Given the description of an element on the screen output the (x, y) to click on. 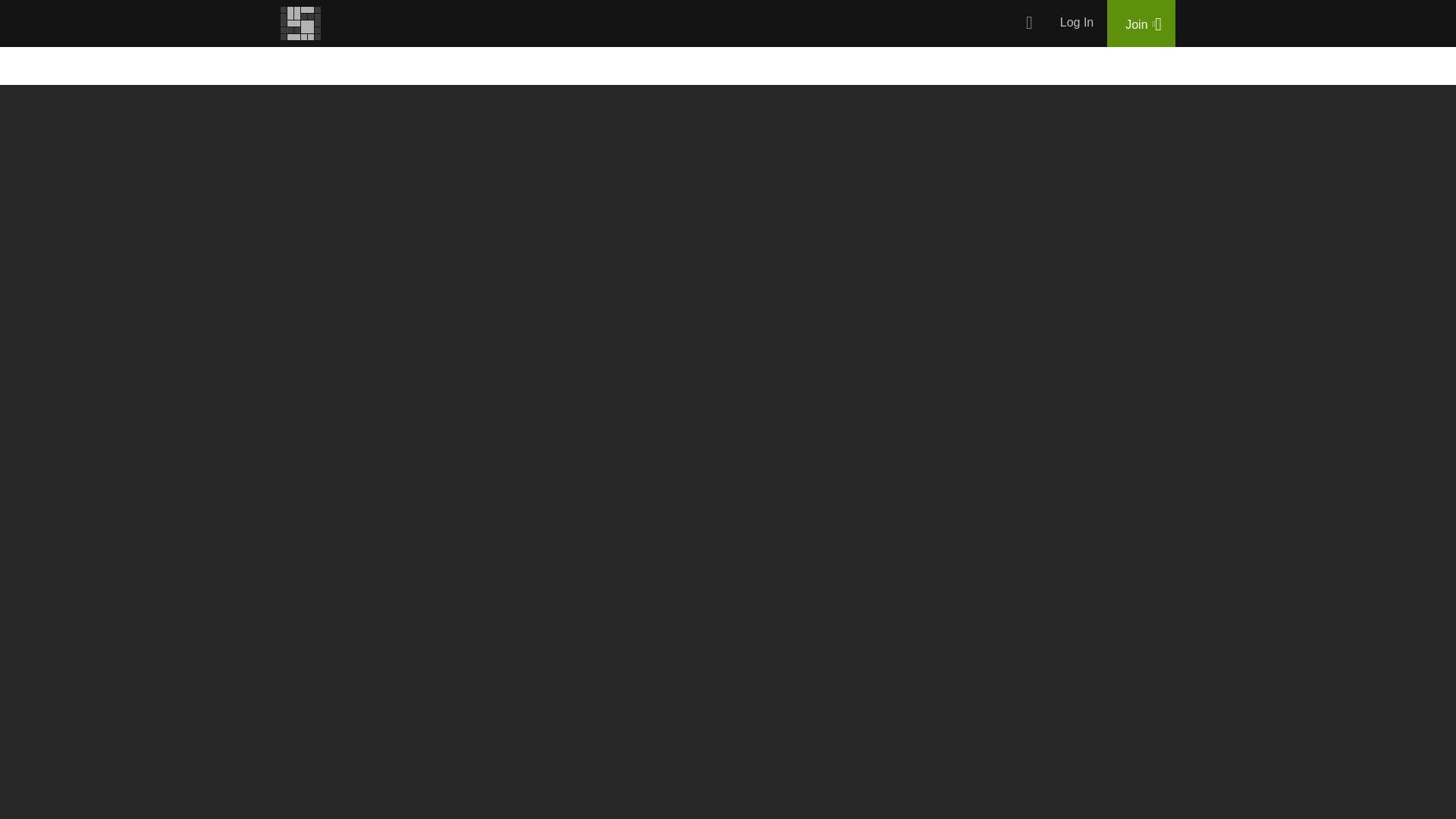
Log In (1076, 23)
Join (1140, 23)
